Given the description of an element on the screen output the (x, y) to click on. 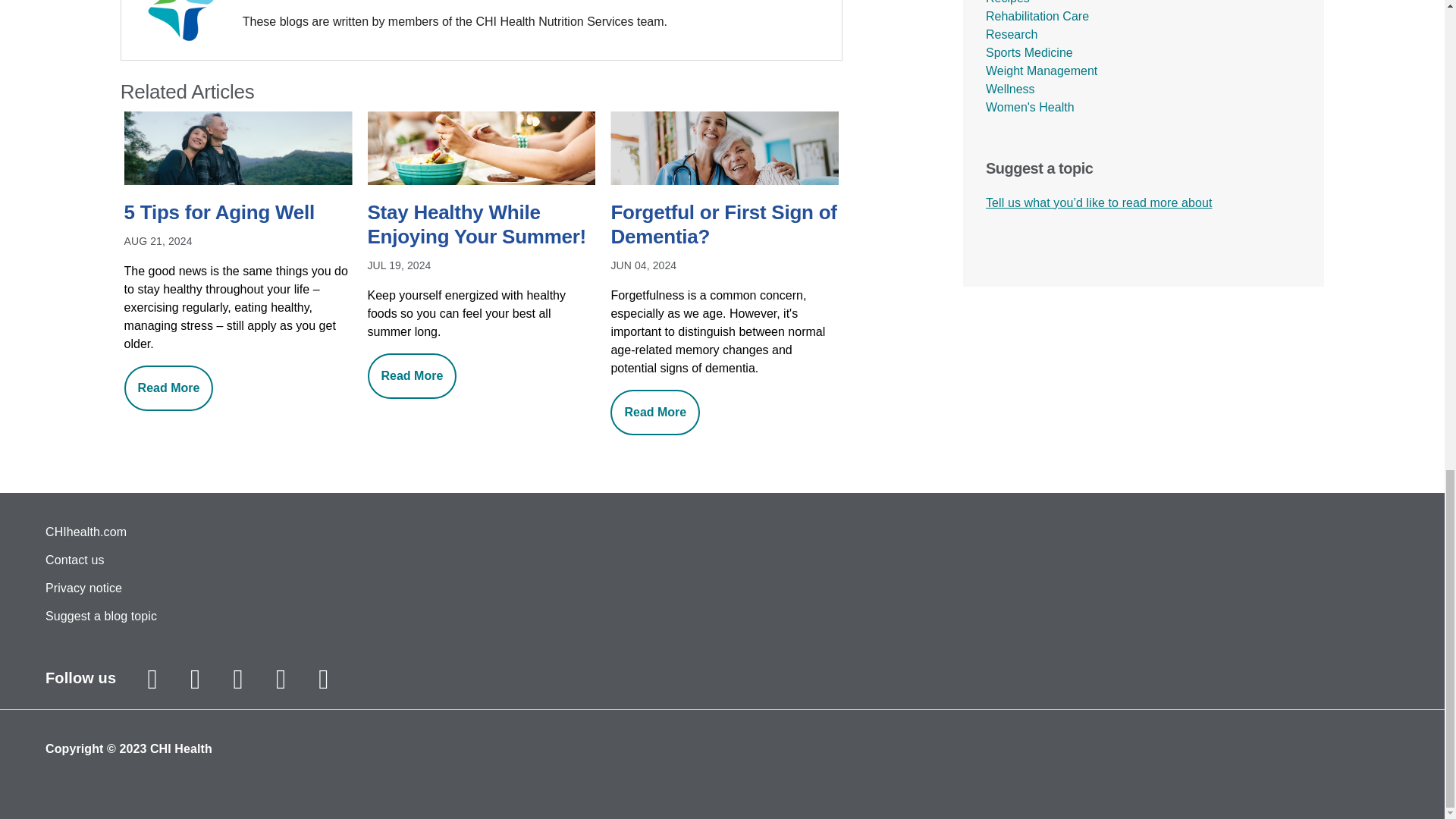
5 Tips for Aging Well (237, 213)
CHI Health Facebook page (195, 678)
CHI Health Linkedin page (323, 678)
Forgetful or First Sign of Dementia? (724, 225)
Read More (412, 375)
CHI Health Twitter page (237, 678)
Read More (655, 411)
CHI Health Youtube page (280, 678)
Stay Healthy While Enjoying Your Summer! (481, 225)
